Given the description of an element on the screen output the (x, y) to click on. 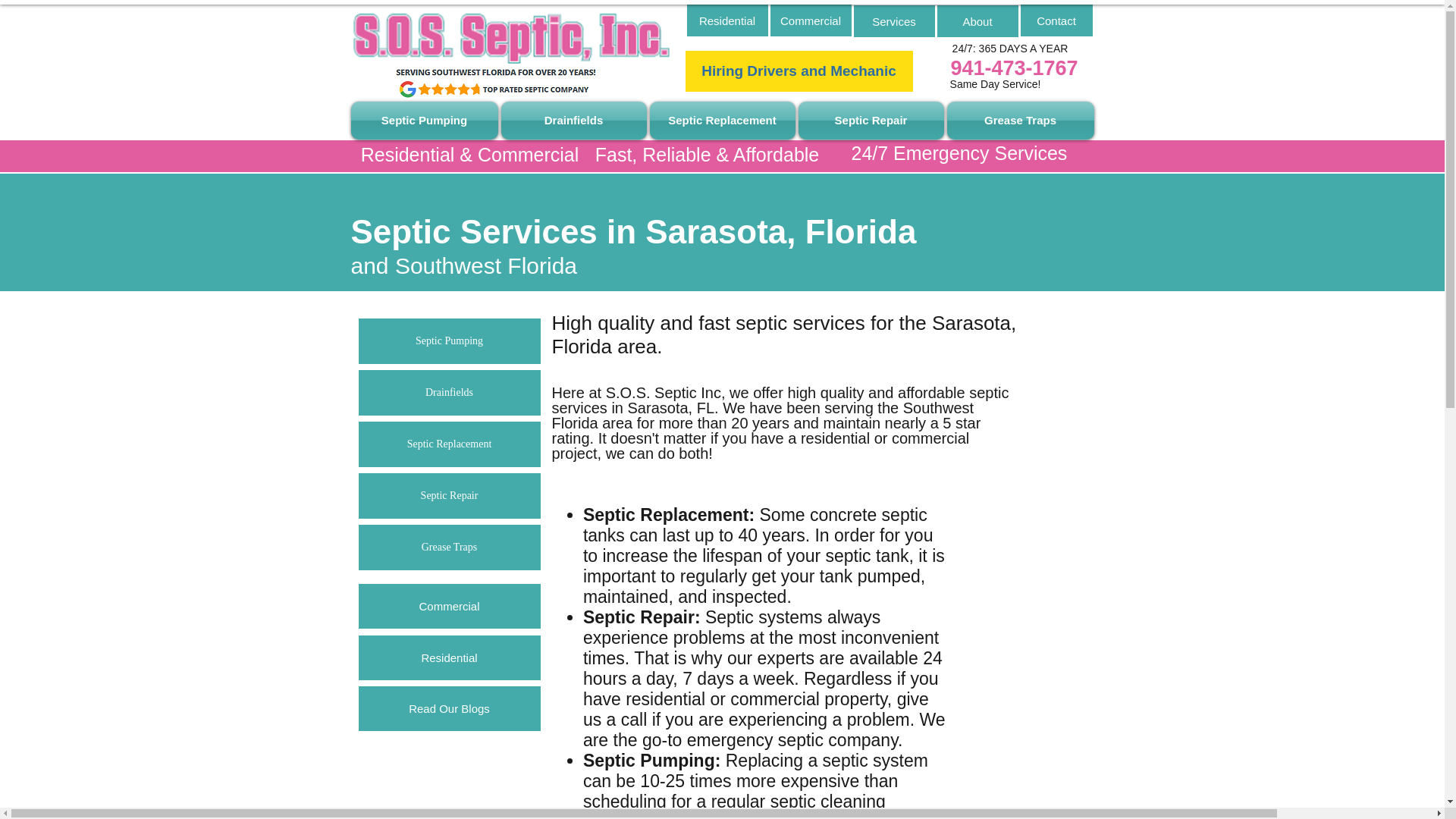
Residential (727, 20)
Drainfields (573, 120)
Hiring Drivers and Mechanic (798, 70)
Read Our Blogs (449, 708)
Septic Repair (449, 495)
Septic Replacement (721, 120)
Septic Pumping (424, 120)
Drainfields (449, 392)
Services (893, 20)
Grease Traps (449, 547)
Septic Pumping (449, 340)
Commercial (810, 20)
Septic Repair (870, 120)
Contact (1056, 20)
941-473-1767 (1013, 68)
